Given the description of an element on the screen output the (x, y) to click on. 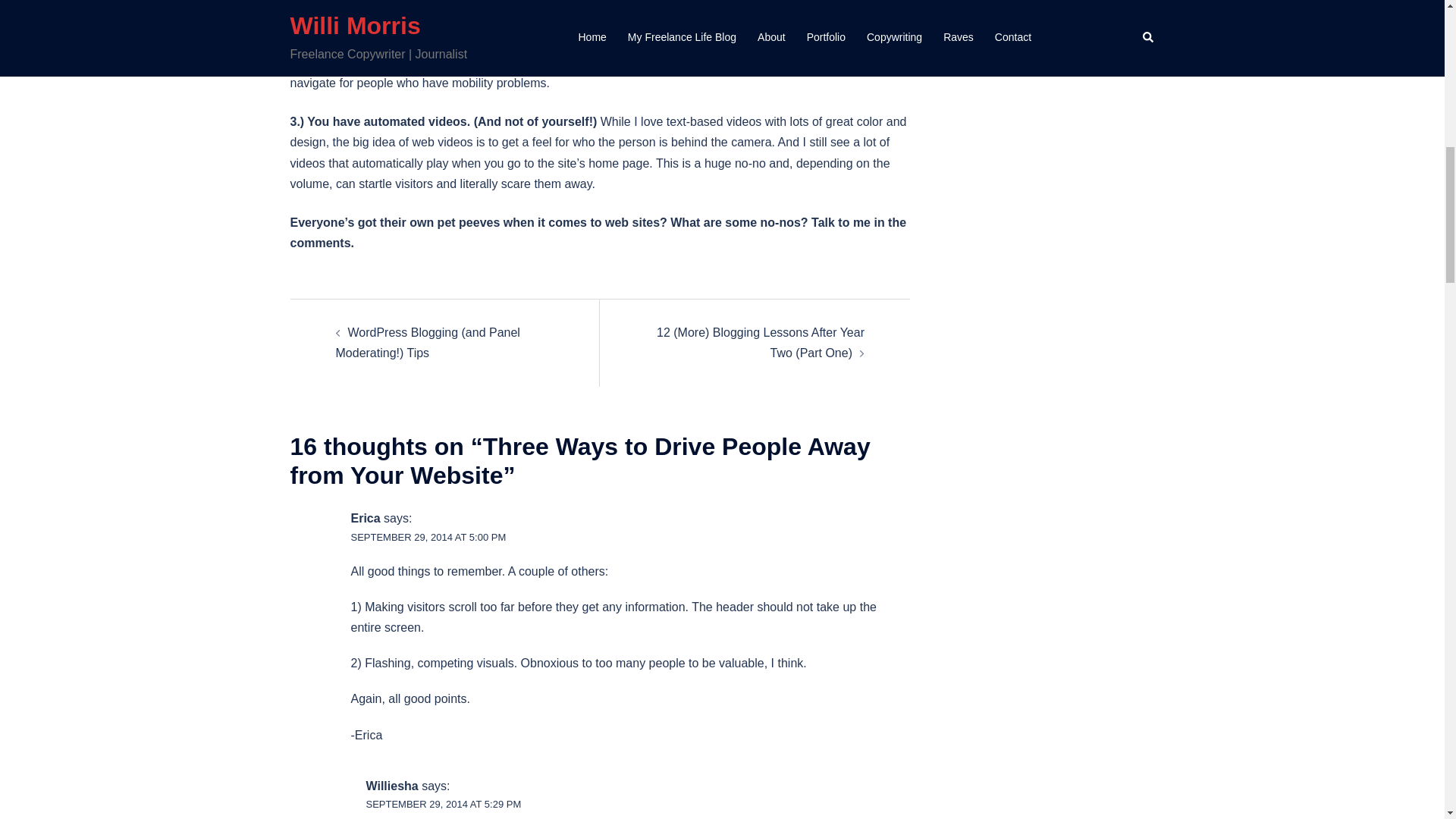
SEPTEMBER 29, 2014 AT 5:00 PM (427, 536)
Williesha (391, 785)
Erica (365, 517)
SEPTEMBER 29, 2014 AT 5:29 PM (443, 803)
